Given the description of an element on the screen output the (x, y) to click on. 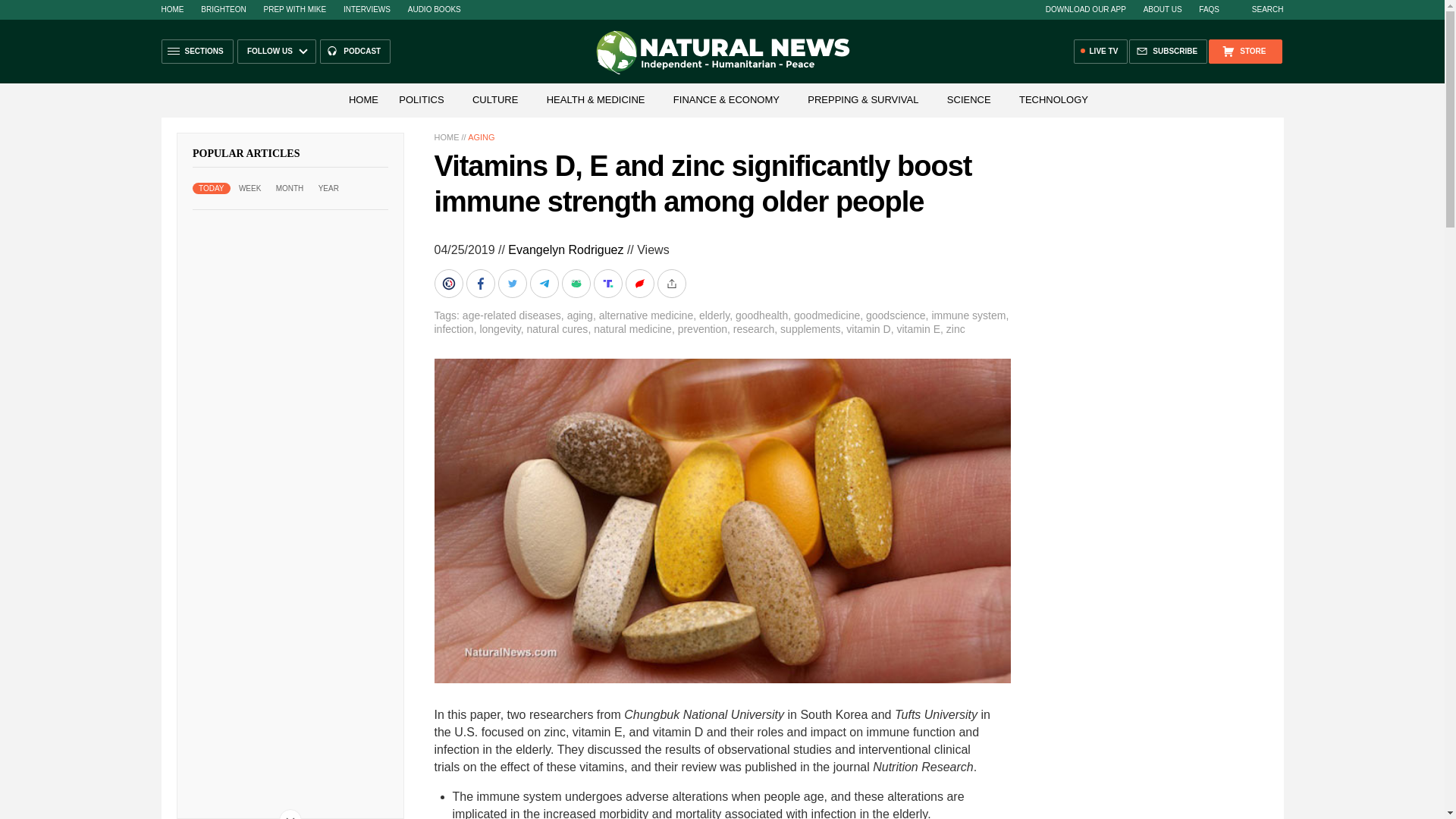
Share on Truth.Social (608, 283)
STORE (1244, 51)
More Share Options (672, 283)
FAQS (1209, 8)
Scroll Down (290, 814)
HOME (445, 136)
HOME (363, 99)
PODCAST (355, 51)
LIVE TV (1101, 51)
CULTURE (495, 99)
